Given the description of an element on the screen output the (x, y) to click on. 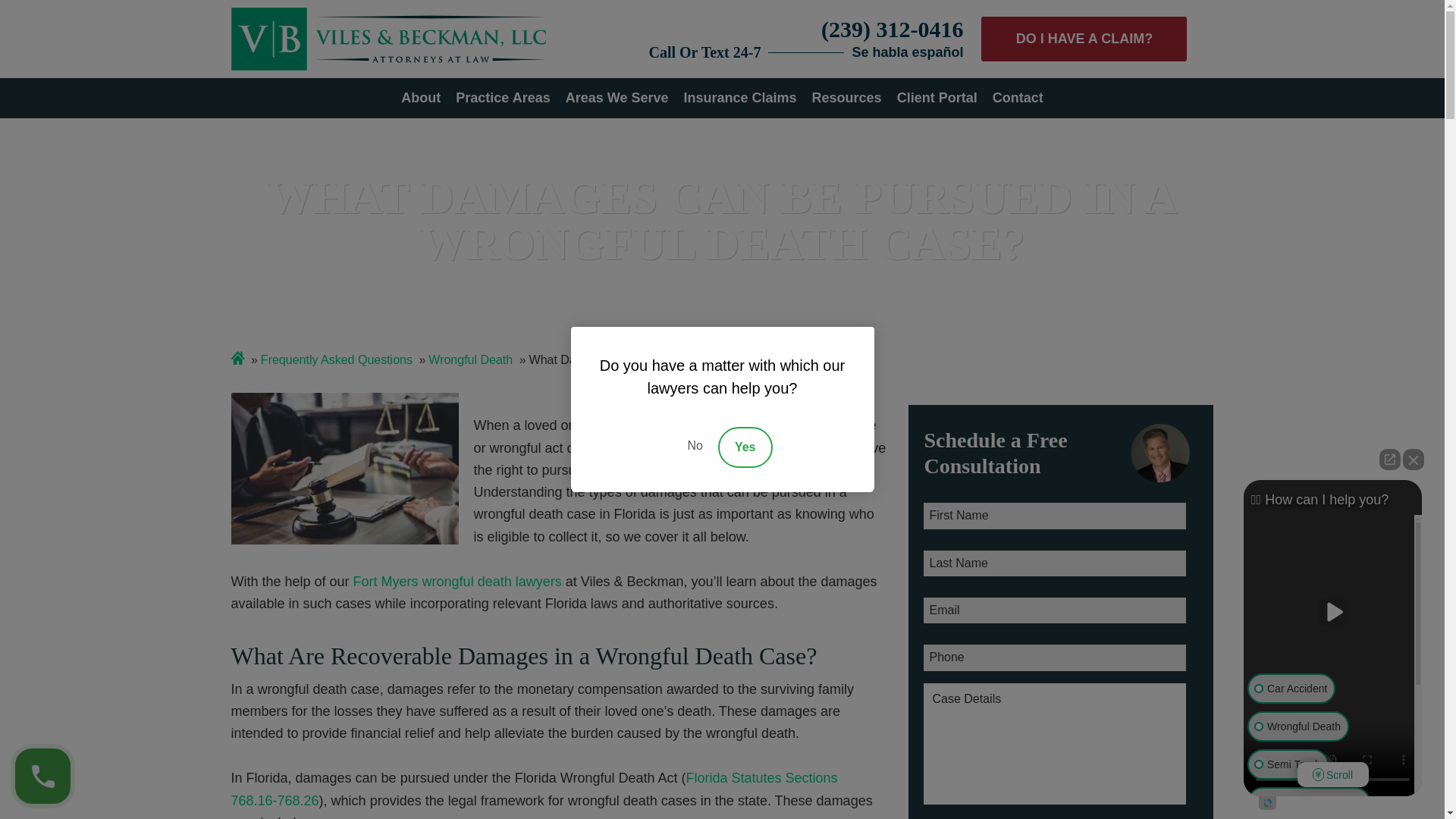
Attorney (1160, 453)
Practice Areas (502, 97)
DO I HAVE A CLAIM? (1083, 38)
About (421, 97)
Areas We Serve (617, 97)
